Given the description of an element on the screen output the (x, y) to click on. 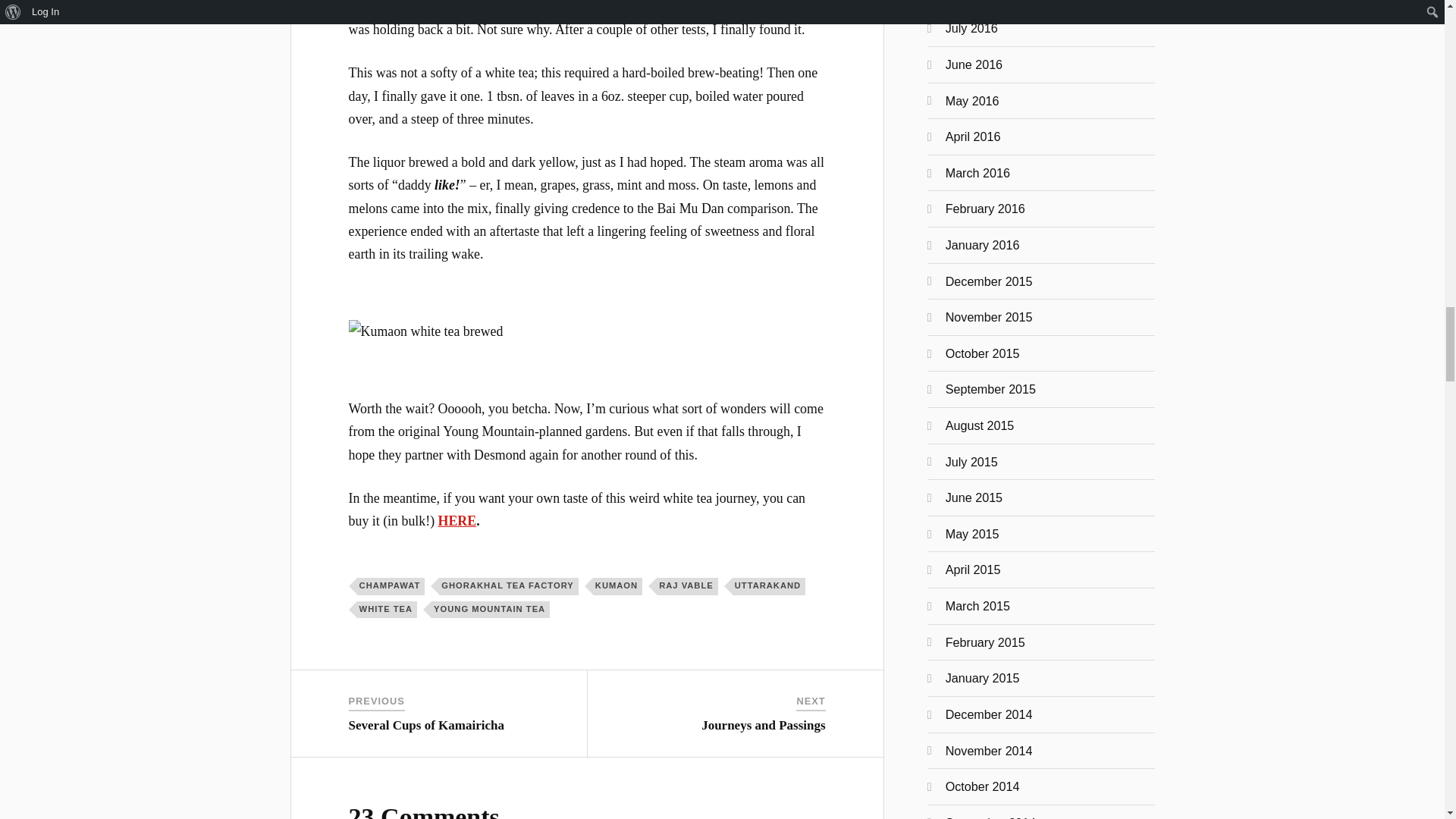
GHORAKHAL TEA FACTORY (508, 586)
CHAMPAWAT (390, 586)
HERE (457, 520)
KUMAON (617, 586)
